Given the description of an element on the screen output the (x, y) to click on. 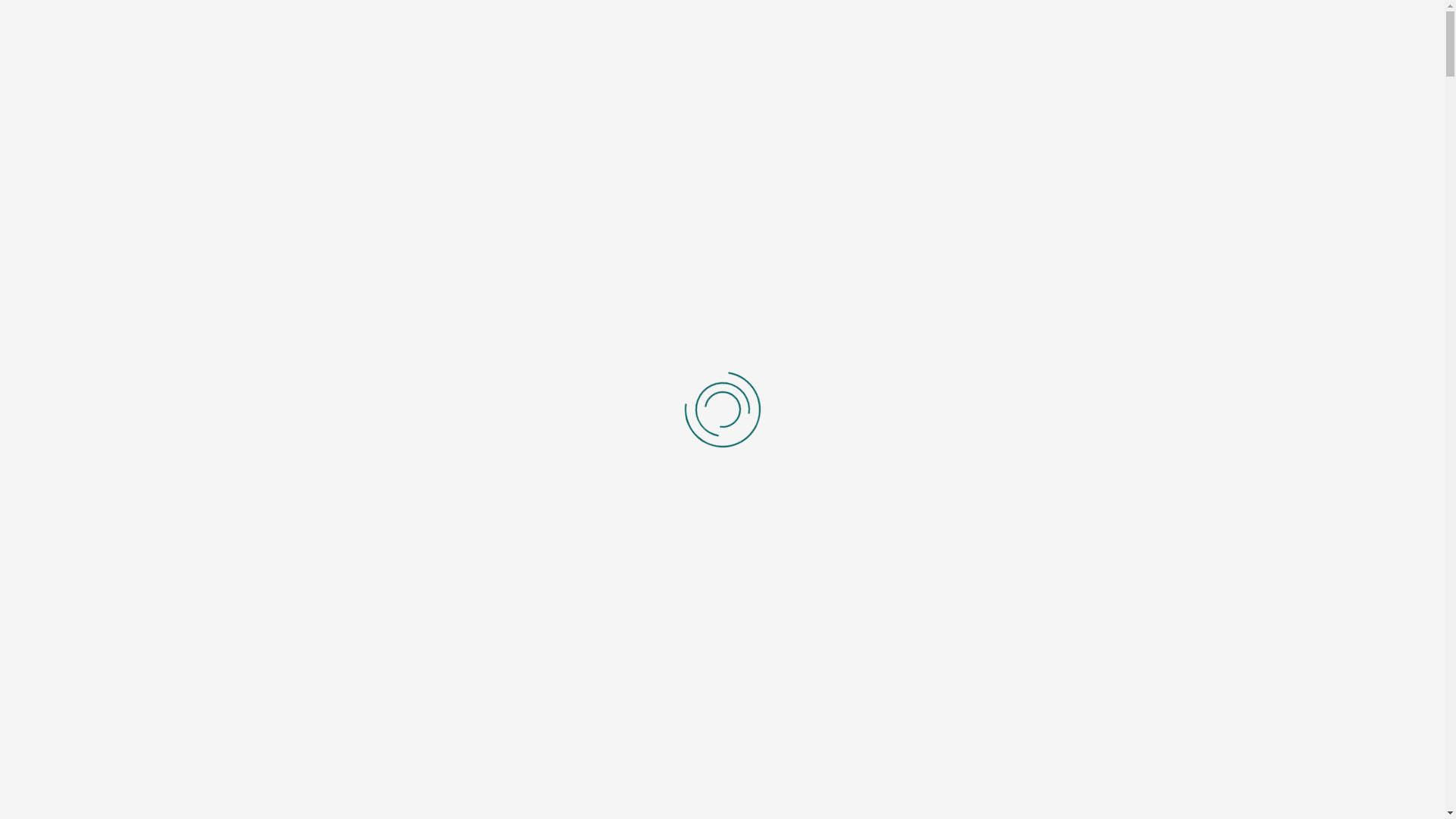
PERFORMANCES Element type: text (853, 69)
ABOUT Element type: text (648, 69)
HOME Element type: text (593, 69)
CONTACT Element type: text (1071, 69)
SHOP Element type: text (1129, 69)
EDUCATION Element type: text (945, 69)
CREATIVE DIRECTION Element type: text (739, 69)
MEDIA Element type: text (1010, 69)
info@gracekim.com.au Element type: text (423, 16)
